Given the description of an element on the screen output the (x, y) to click on. 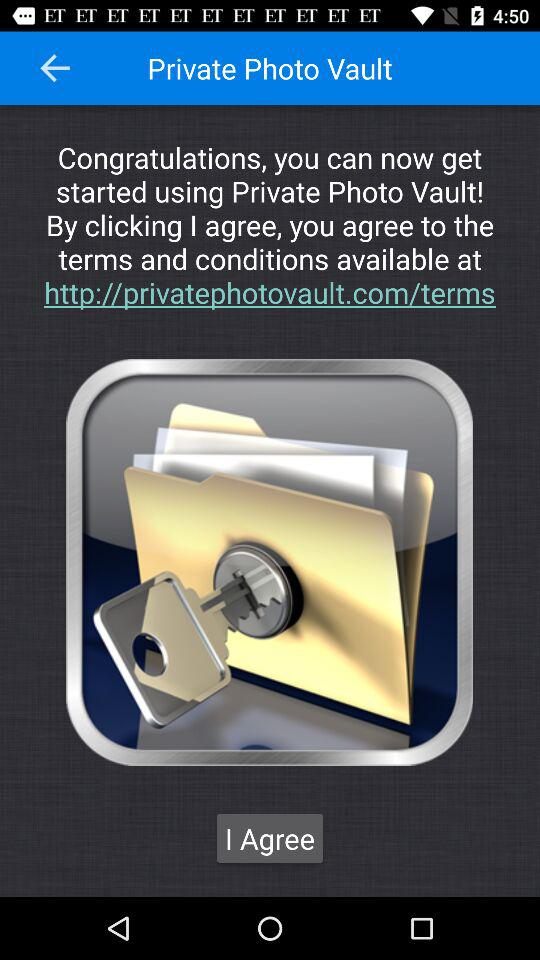
press the congratulations you can item (270, 224)
